Given the description of an element on the screen output the (x, y) to click on. 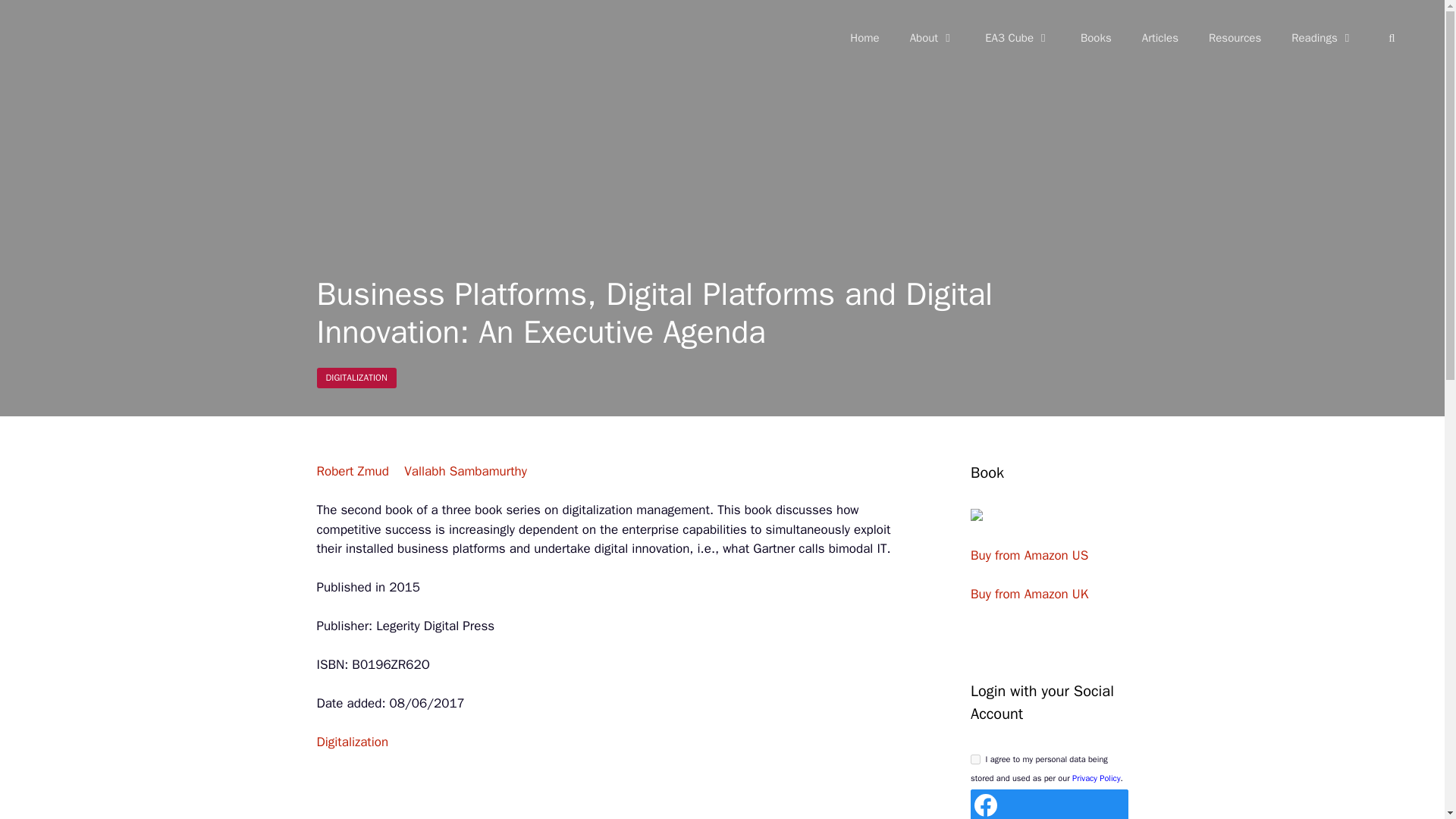
Readings (1323, 37)
Books (1095, 37)
1 (975, 759)
About (932, 37)
Login with Facebook (985, 804)
Articles (1159, 37)
Resources (1234, 37)
EA3 Cube (1017, 37)
Home (863, 37)
